Given the description of an element on the screen output the (x, y) to click on. 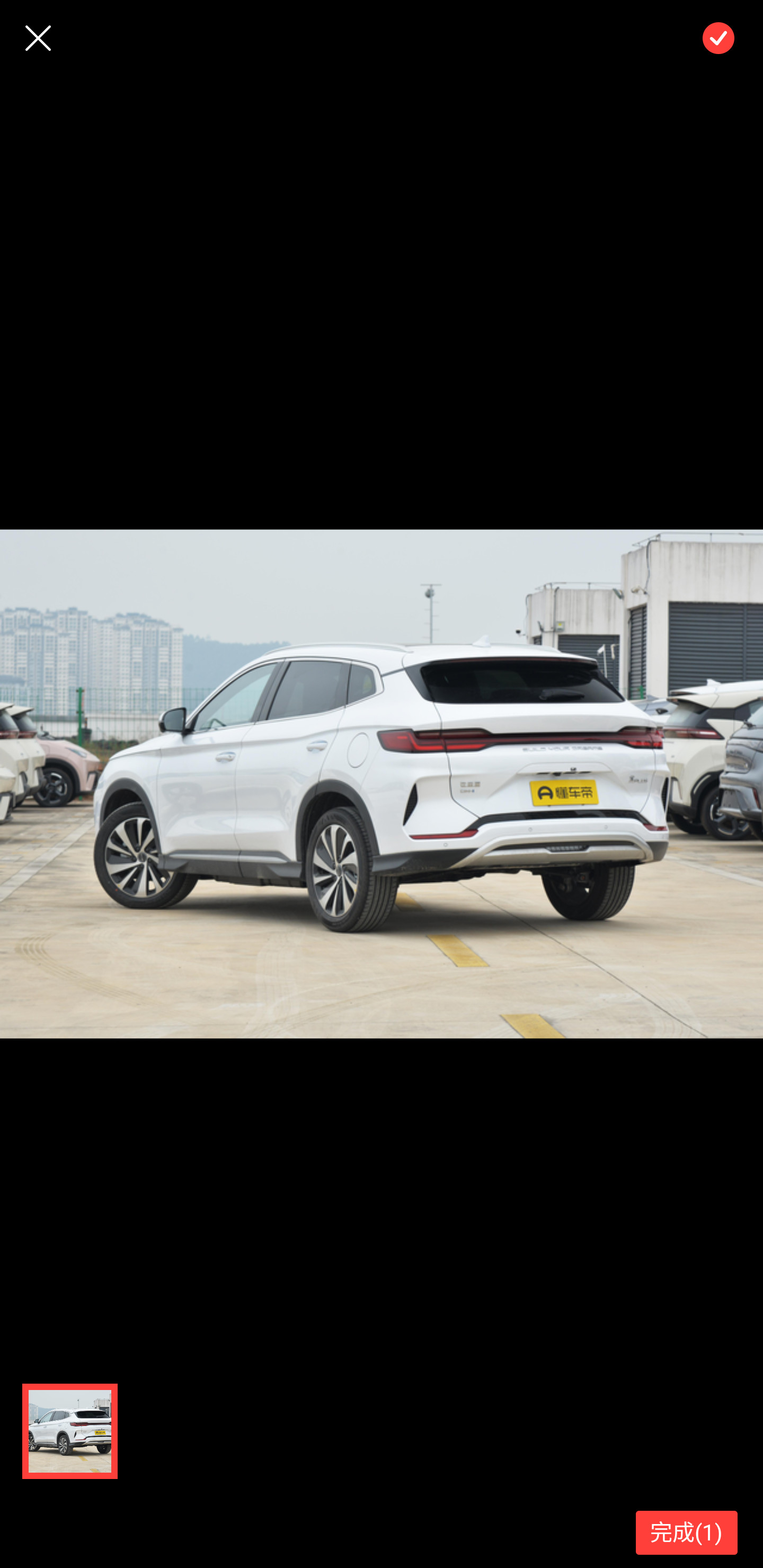
返回 (38, 38)
完成 (1) (686, 1533)
